Given the description of an element on the screen output the (x, y) to click on. 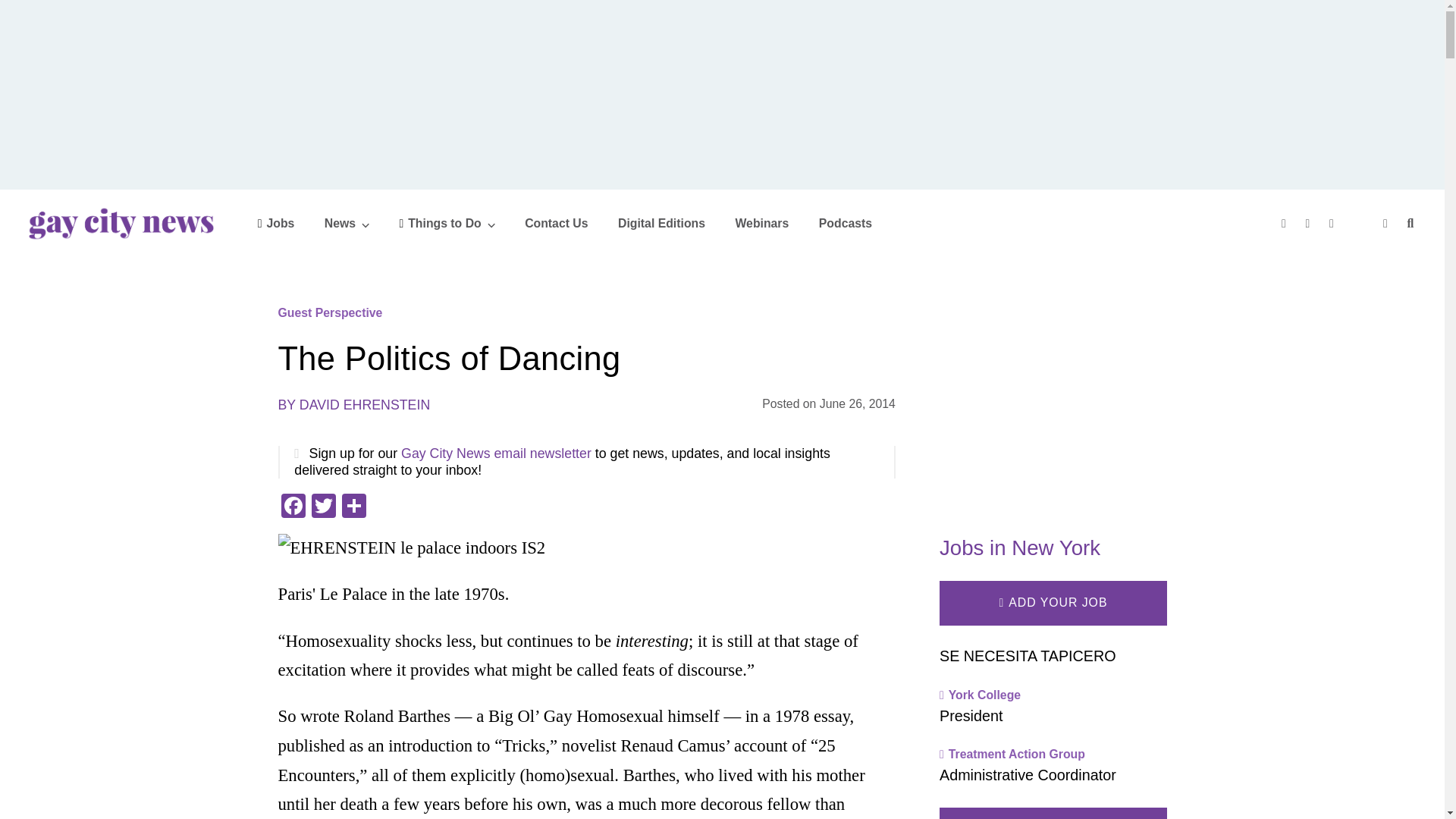
Contact Us (556, 223)
Things to Do (446, 223)
Podcasts (845, 223)
Jobs (276, 223)
Facebook (292, 507)
Twitter (322, 507)
Digital Editions (660, 223)
News (346, 223)
Webinars (762, 223)
